Given the description of an element on the screen output the (x, y) to click on. 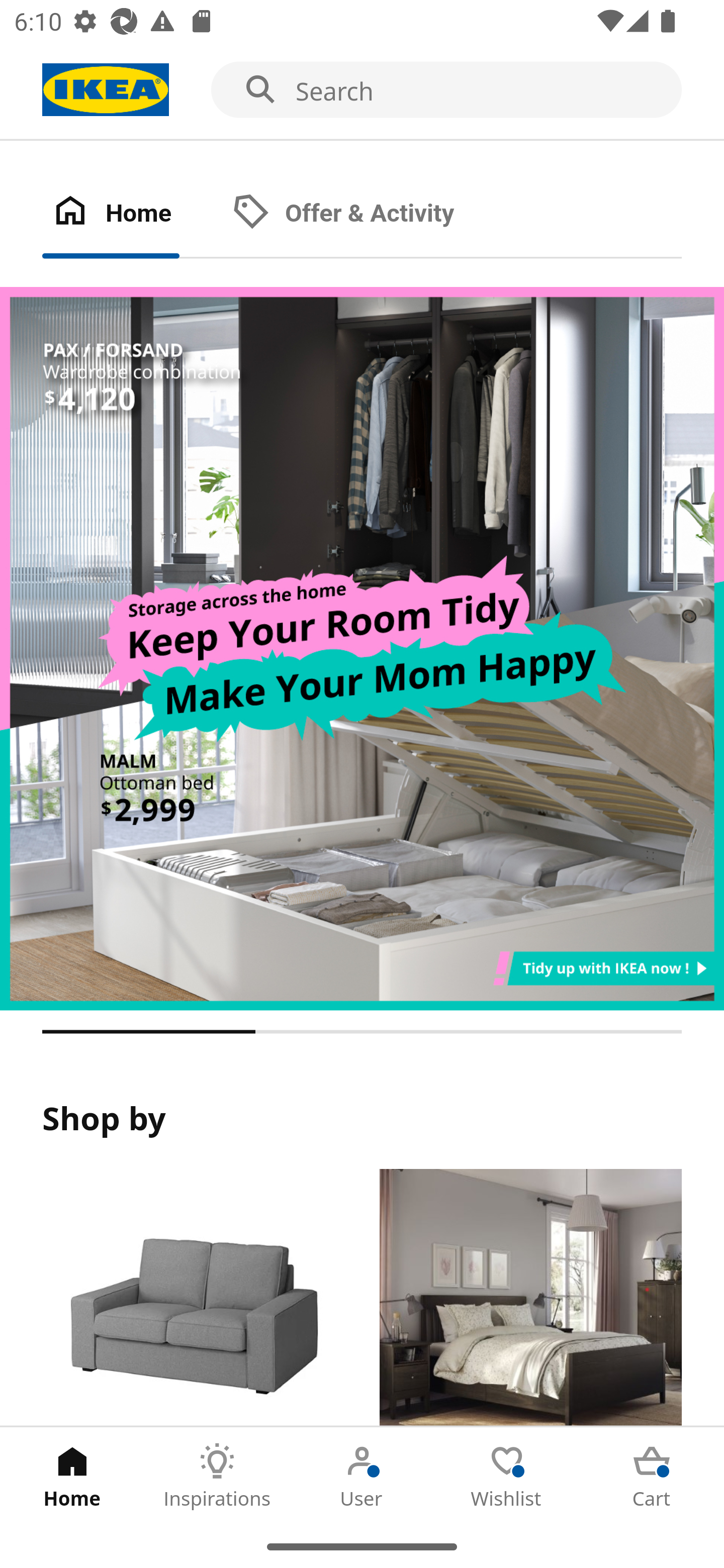
Search (361, 90)
Home
Tab 1 of 2 (131, 213)
Offer & Activity
Tab 2 of 2 (363, 213)
Products (192, 1297)
Rooms (530, 1297)
Home
Tab 1 of 5 (72, 1476)
Inspirations
Tab 2 of 5 (216, 1476)
User
Tab 3 of 5 (361, 1476)
Wishlist
Tab 4 of 5 (506, 1476)
Cart
Tab 5 of 5 (651, 1476)
